Given the description of an element on the screen output the (x, y) to click on. 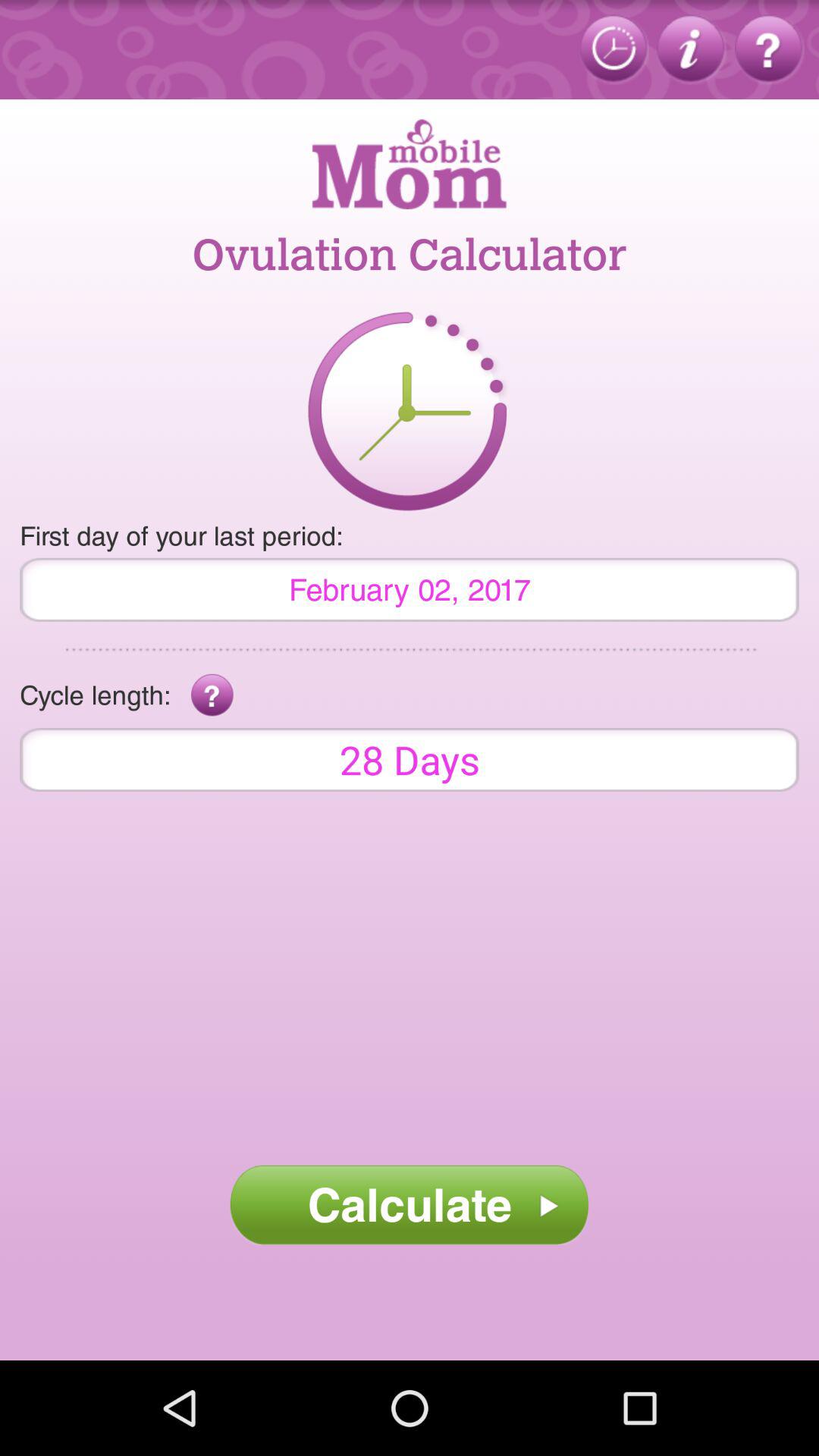
click app to the right of cycle length: app (212, 695)
